Given the description of an element on the screen output the (x, y) to click on. 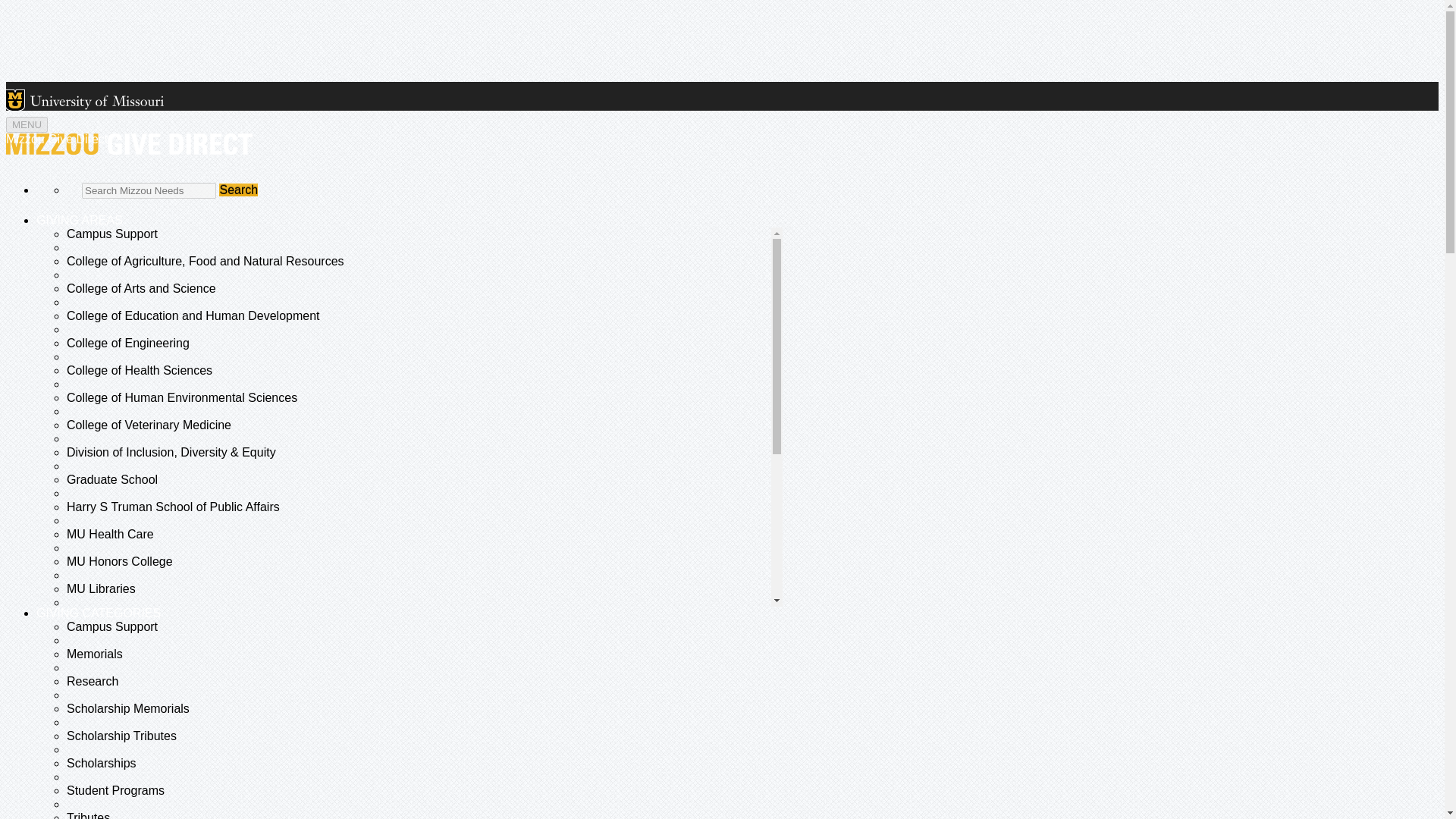
MENU (26, 124)
University of Missouri (97, 102)
Mizzou Logo (14, 100)
Mizzou Give Direct (128, 143)
